Given the description of an element on the screen output the (x, y) to click on. 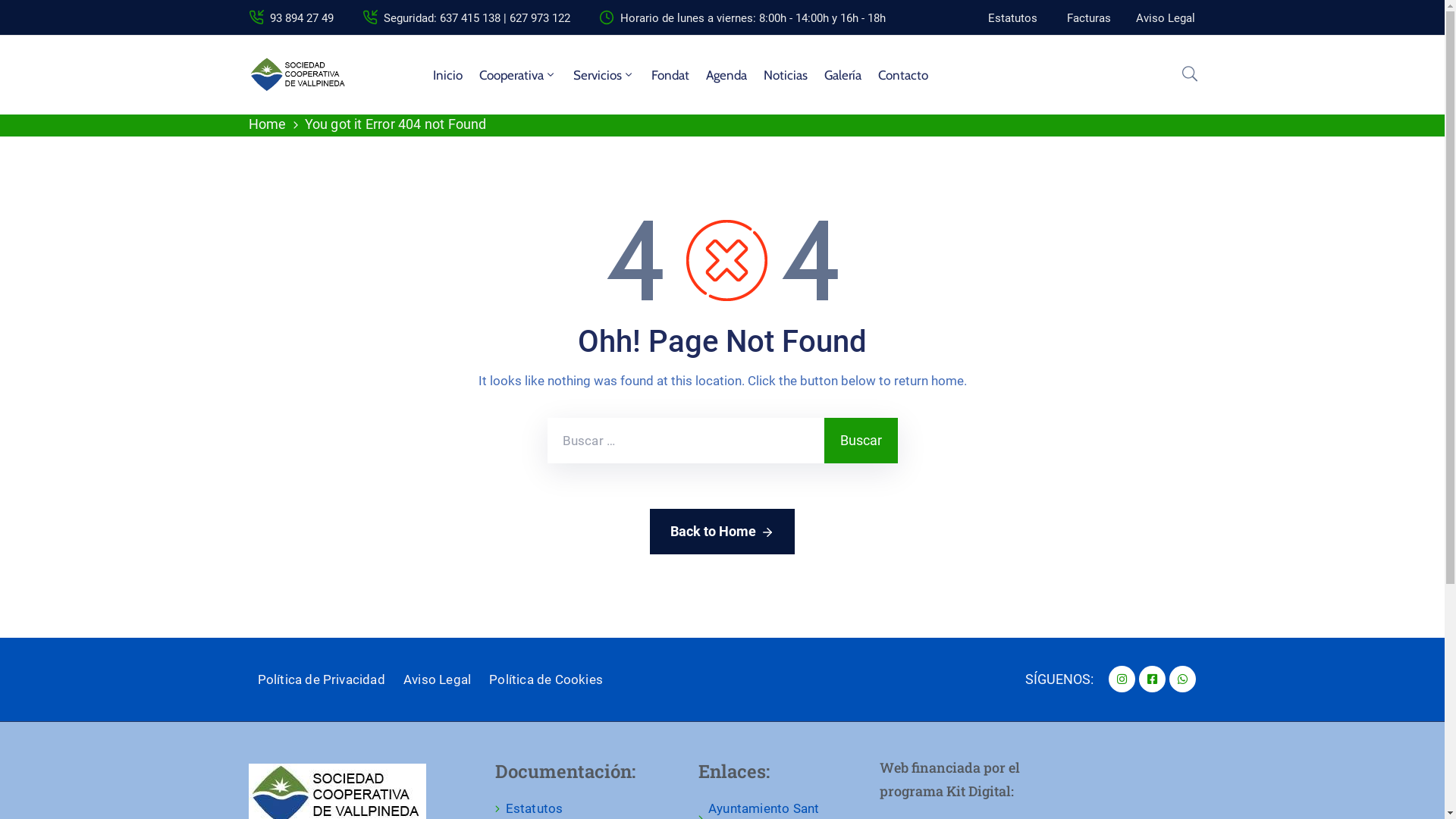
Cooperativa Element type: text (517, 74)
Agenda Element type: text (726, 74)
93 894 27 49 Element type: text (301, 18)
Aviso Legal Element type: text (437, 679)
Buscar Element type: text (860, 439)
Inicio Element type: text (447, 74)
Estatutos Element type: text (1012, 18)
Contacto Element type: text (902, 74)
Search Element type: text (1060, 409)
Servicios Element type: text (603, 74)
Horario de lunes a viernes: 8:00h - 14:00h y 16h - 18h Element type: text (752, 18)
Facturas Element type: text (1088, 18)
Fondat Element type: text (670, 74)
Back to Home Element type: text (721, 530)
Aviso Legal Element type: text (1165, 18)
Noticias Element type: text (785, 74)
Home Element type: text (267, 123)
Seguridad: 637 415 138 | 627 973 122 Element type: text (476, 18)
